Given the description of an element on the screen output the (x, y) to click on. 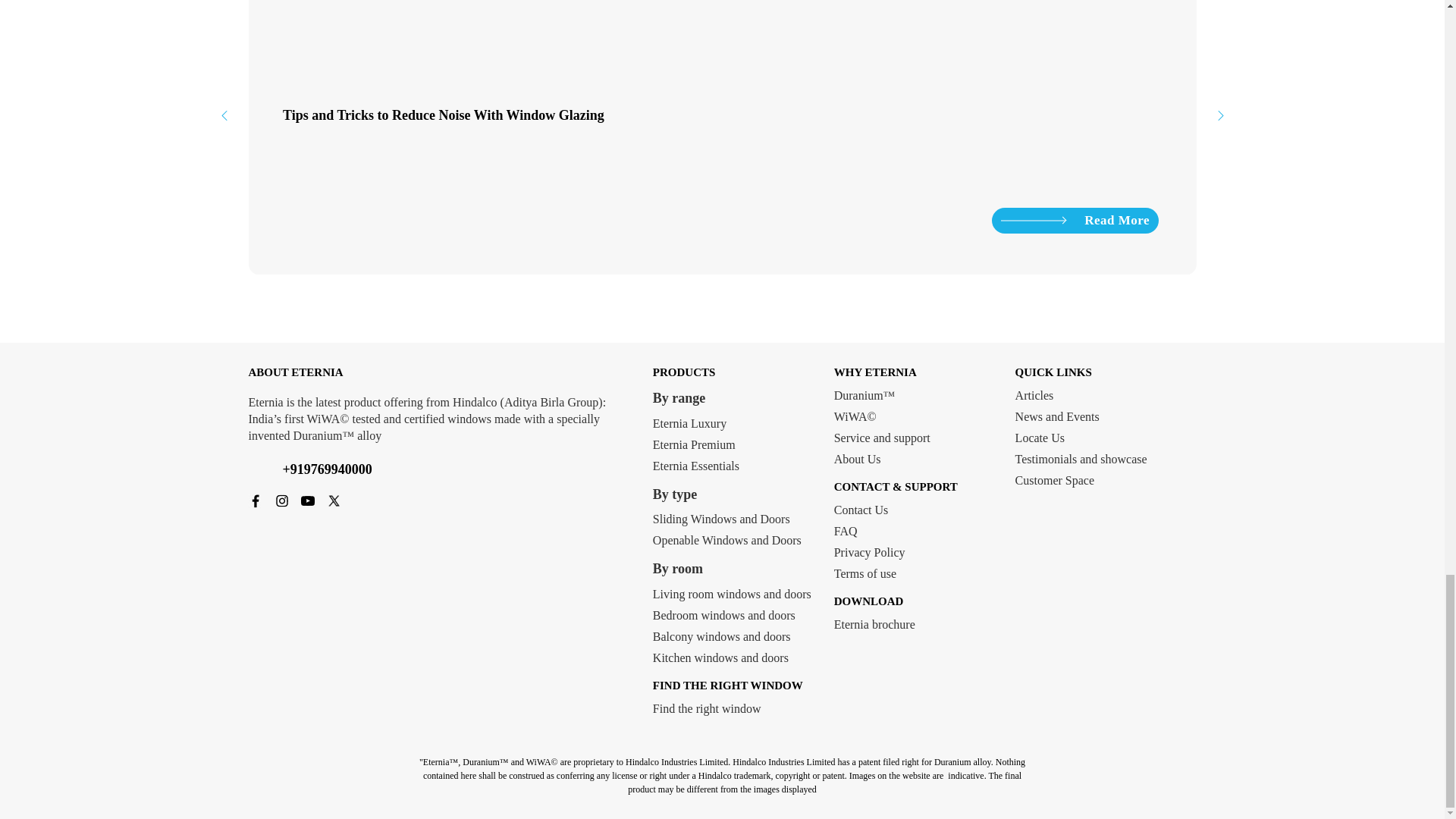
twitter (333, 500)
linkedin (359, 500)
youtube (307, 500)
facebook (255, 500)
instagram (282, 500)
